Given the description of an element on the screen output the (x, y) to click on. 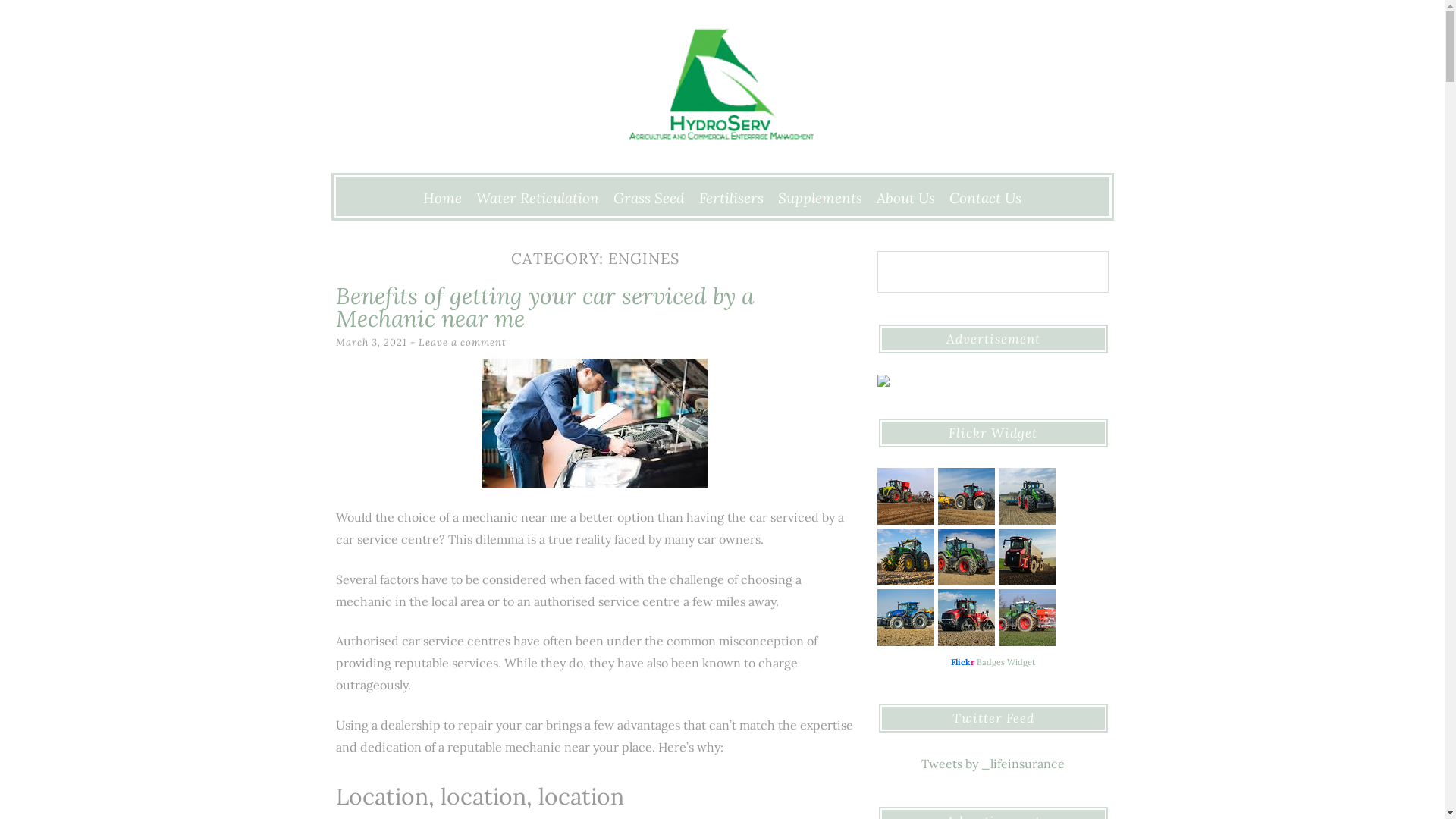
Contact Us Element type: text (985, 197)
Skip to content Element type: text (339, 182)
March 3, 2021 Element type: text (370, 341)
Fertilisers Element type: text (731, 197)
Leave a comment Element type: text (462, 341)
Home Element type: text (442, 197)
Planting potatoes with John Deere 6250R Element type: hover (904, 556)
Search Element type: text (31, 14)
Flickr Badges Widget Element type: text (992, 660)
Tweets by _lifeinsurance Element type: text (992, 763)
Supplements Element type: text (820, 197)
Picking stones efficiently! | CASE IH // ELHO Element type: hover (965, 495)
First workday of a new FENDT 828 Vario \'ProfiPlus\' tractor Element type: hover (965, 556)
Water Reticulation Element type: text (537, 197)
Grass Seed Element type: text (648, 197)
About Us Element type: text (905, 197)
Seeding of Clover | CASE IH QUADTRAC 540 CVX Element type: hover (965, 617)
HYDROSERV Element type: text (507, 207)
The Red Dragon in action! HOLMER Terra Variant 585 Element type: hover (1025, 556)
Benefits of getting your car serviced by a Mechanic near me Element type: text (544, 306)
Fertilizing fields before sowing | New Holland // Bogballe Element type: hover (904, 617)
Fertilizing Crops | FENDT // RAUCH Element type: hover (1025, 617)
